Given the description of an element on the screen output the (x, y) to click on. 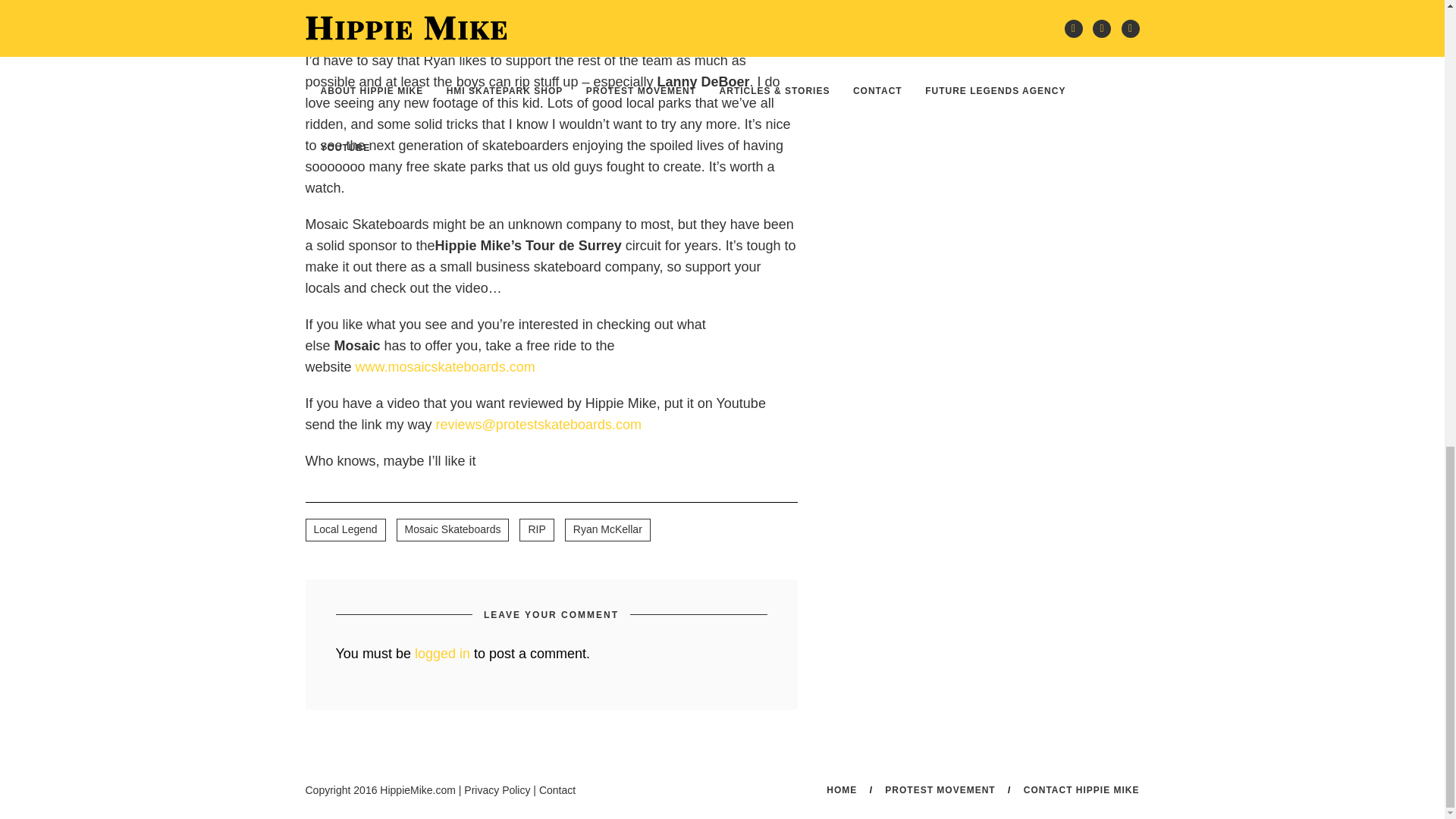
Local Legend (344, 529)
logged in (442, 653)
www.mosaicskateboards.com (445, 366)
RIP (536, 529)
Ryan McKellar (607, 529)
Mosaic Skateboards (452, 529)
